Given the description of an element on the screen output the (x, y) to click on. 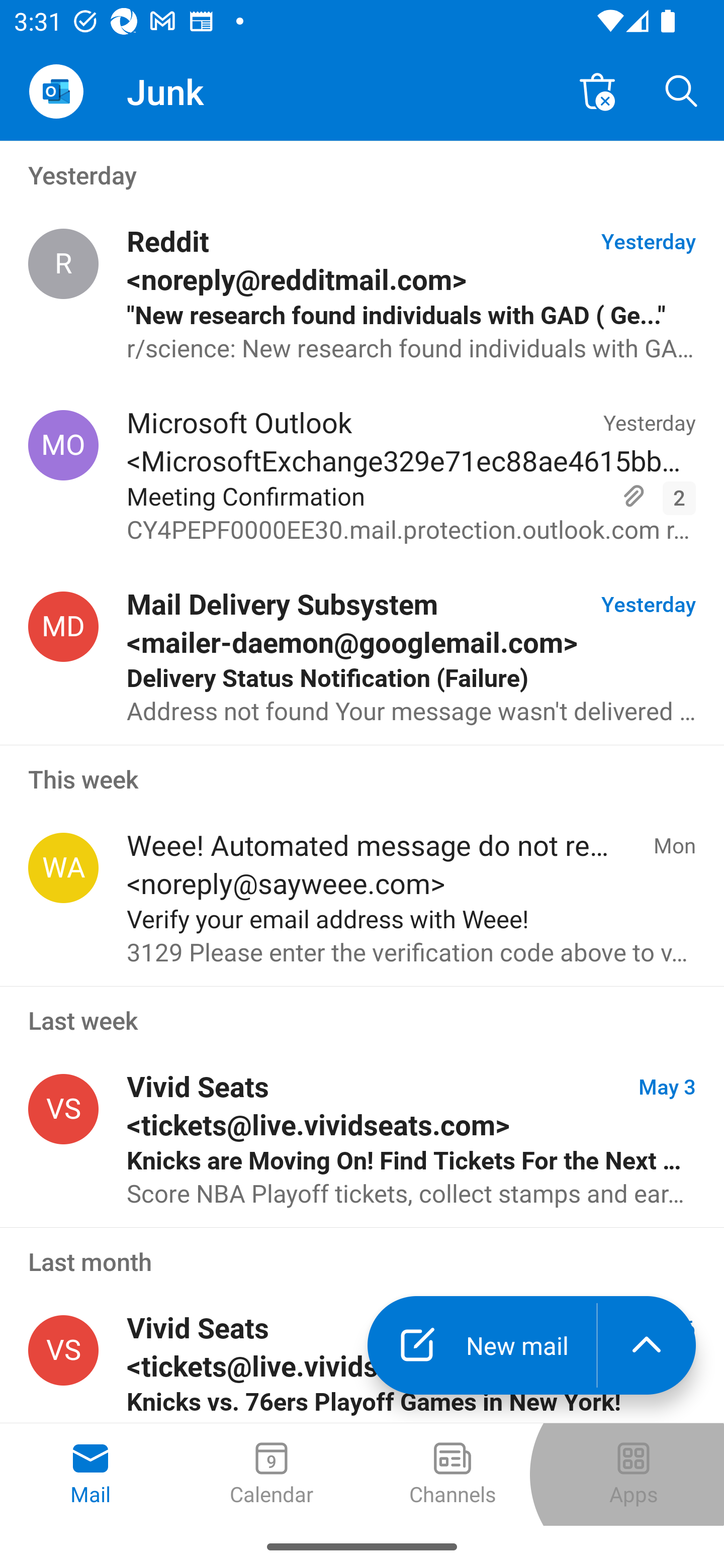
Empty Junk (597, 90)
Search, ,  (681, 90)
Open Navigation Drawer (55, 91)
Reddit, noreply@redditmail.com (63, 263)
Vivid Seats, tickets@live.vividseats.com (63, 1109)
New mail (481, 1344)
launch the extended action menu (646, 1344)
Vivid Seats, tickets@live.vividseats.com (63, 1350)
Calendar (271, 1474)
Channels (452, 1474)
Apps (633, 1474)
